Given the description of an element on the screen output the (x, y) to click on. 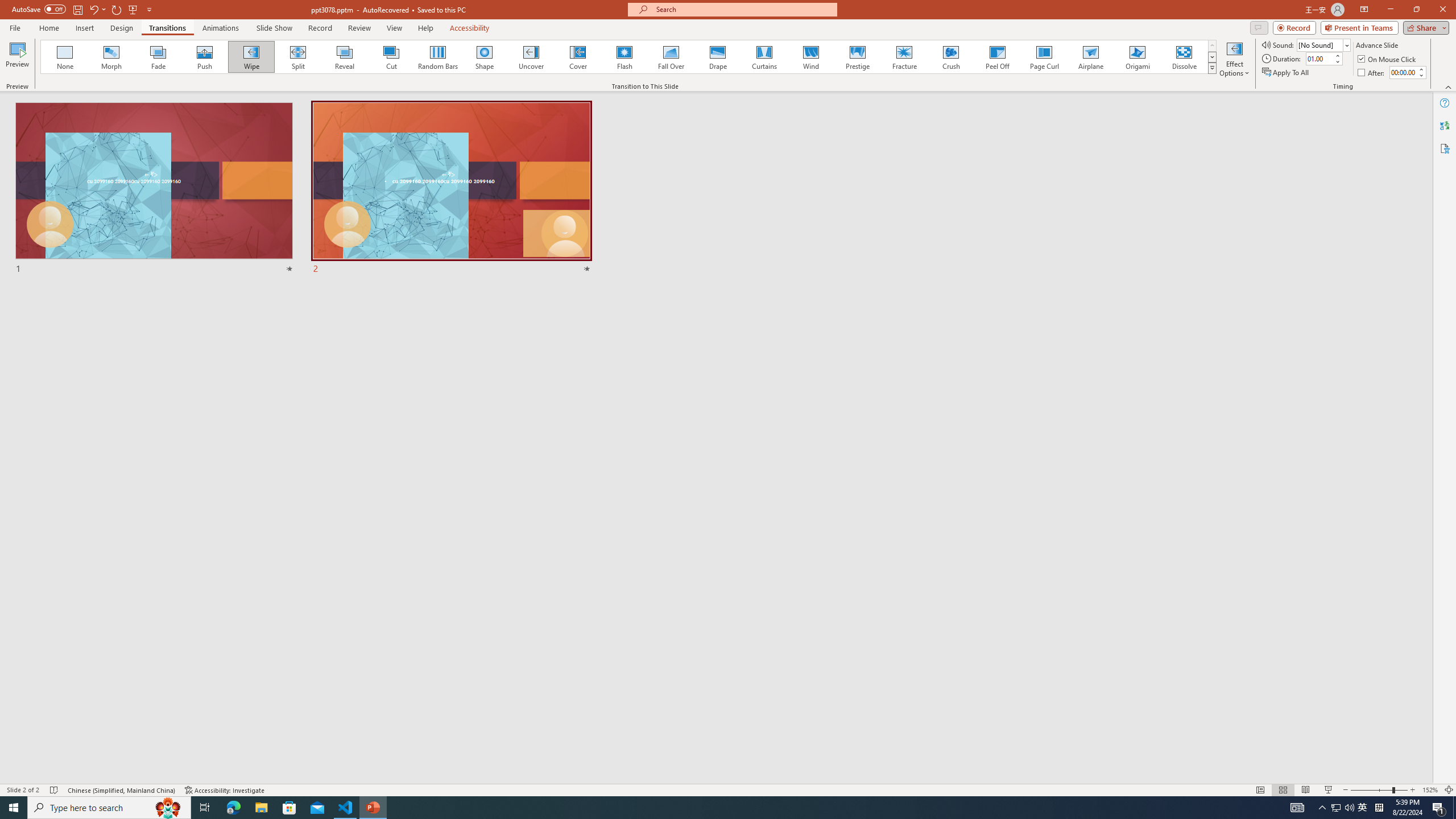
Curtains (764, 56)
Apply To All (1286, 72)
Sound (1324, 44)
AutomationID: AnimationTransitionGallery (628, 56)
